Given the description of an element on the screen output the (x, y) to click on. 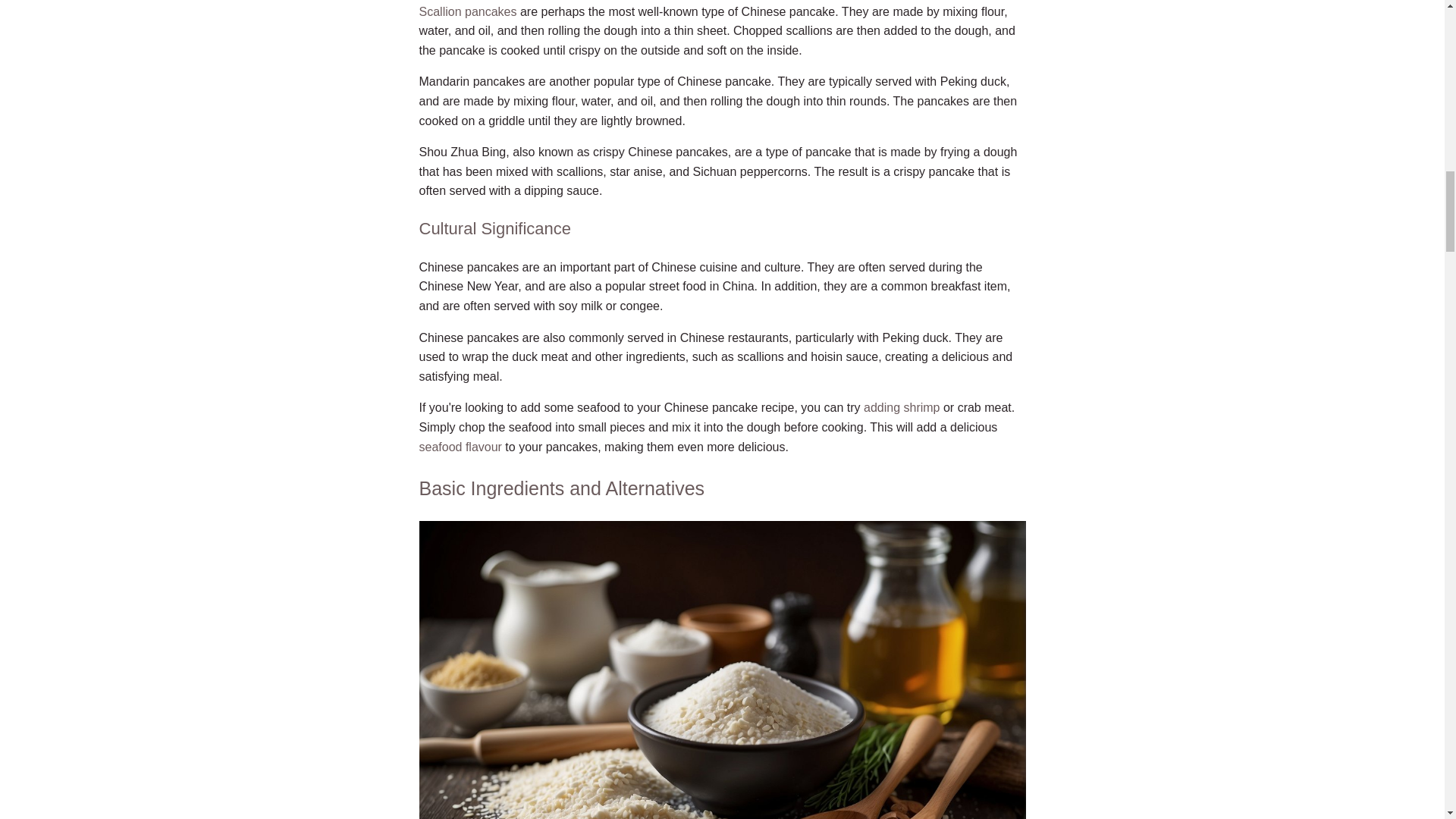
Scallion pancakes (467, 11)
adding shrimp (901, 407)
